Given the description of an element on the screen output the (x, y) to click on. 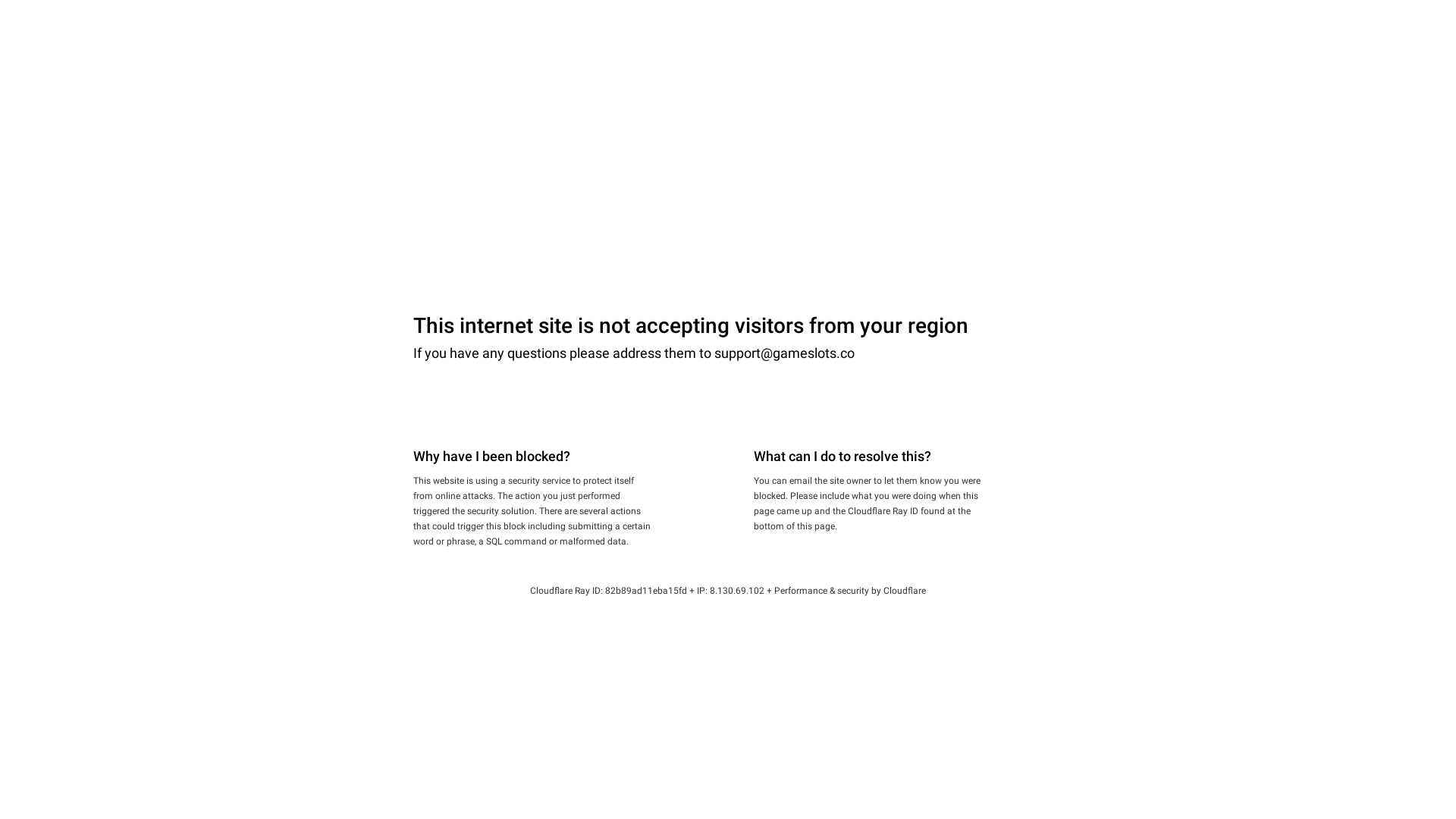
Cloudflare Element type: text (904, 590)
